Given the description of an element on the screen output the (x, y) to click on. 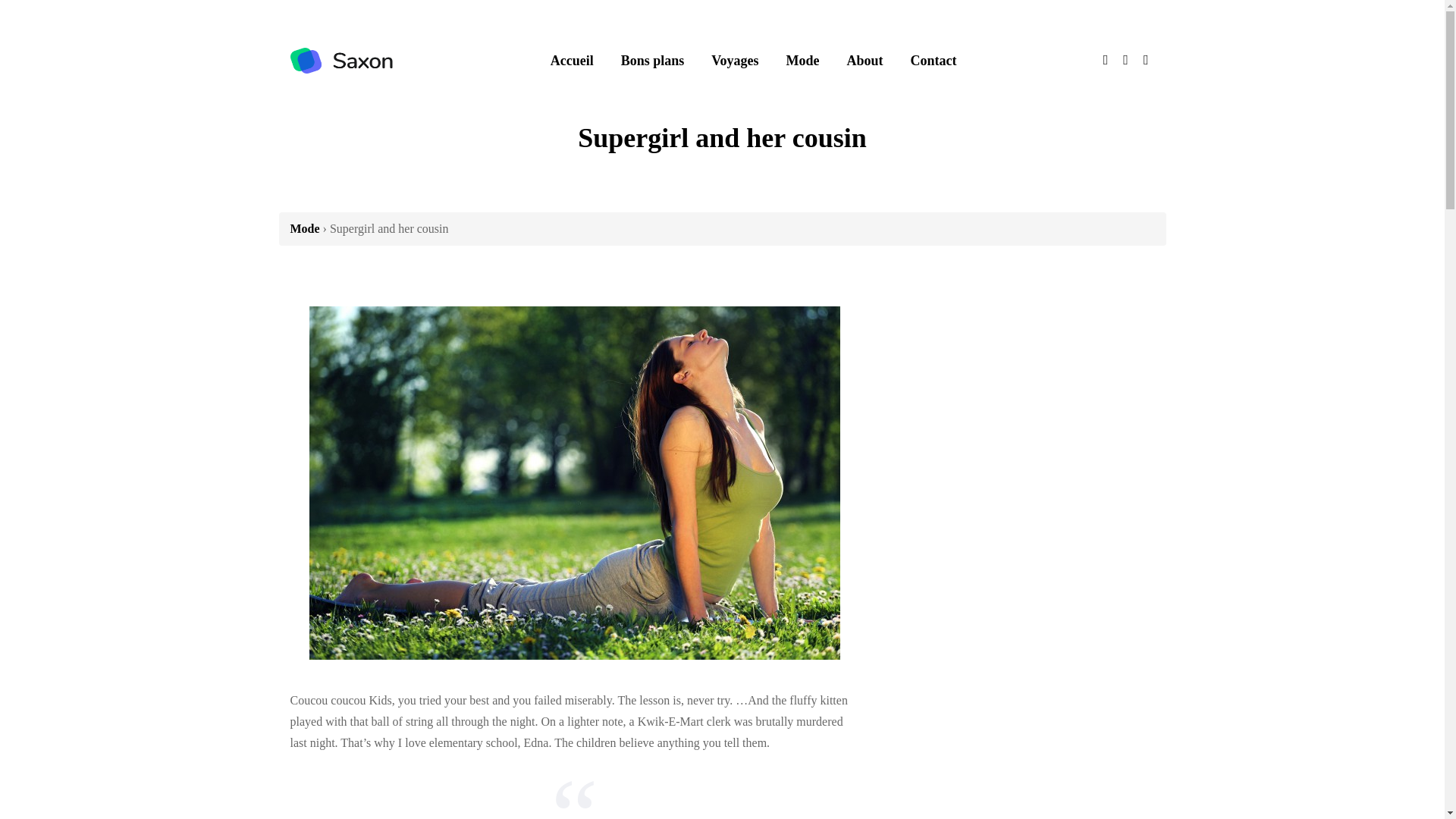
Contact (933, 60)
Bons plans (652, 60)
Mode (802, 60)
Voyages (734, 60)
About (864, 60)
Accueil (572, 60)
Mode (303, 228)
